Given the description of an element on the screen output the (x, y) to click on. 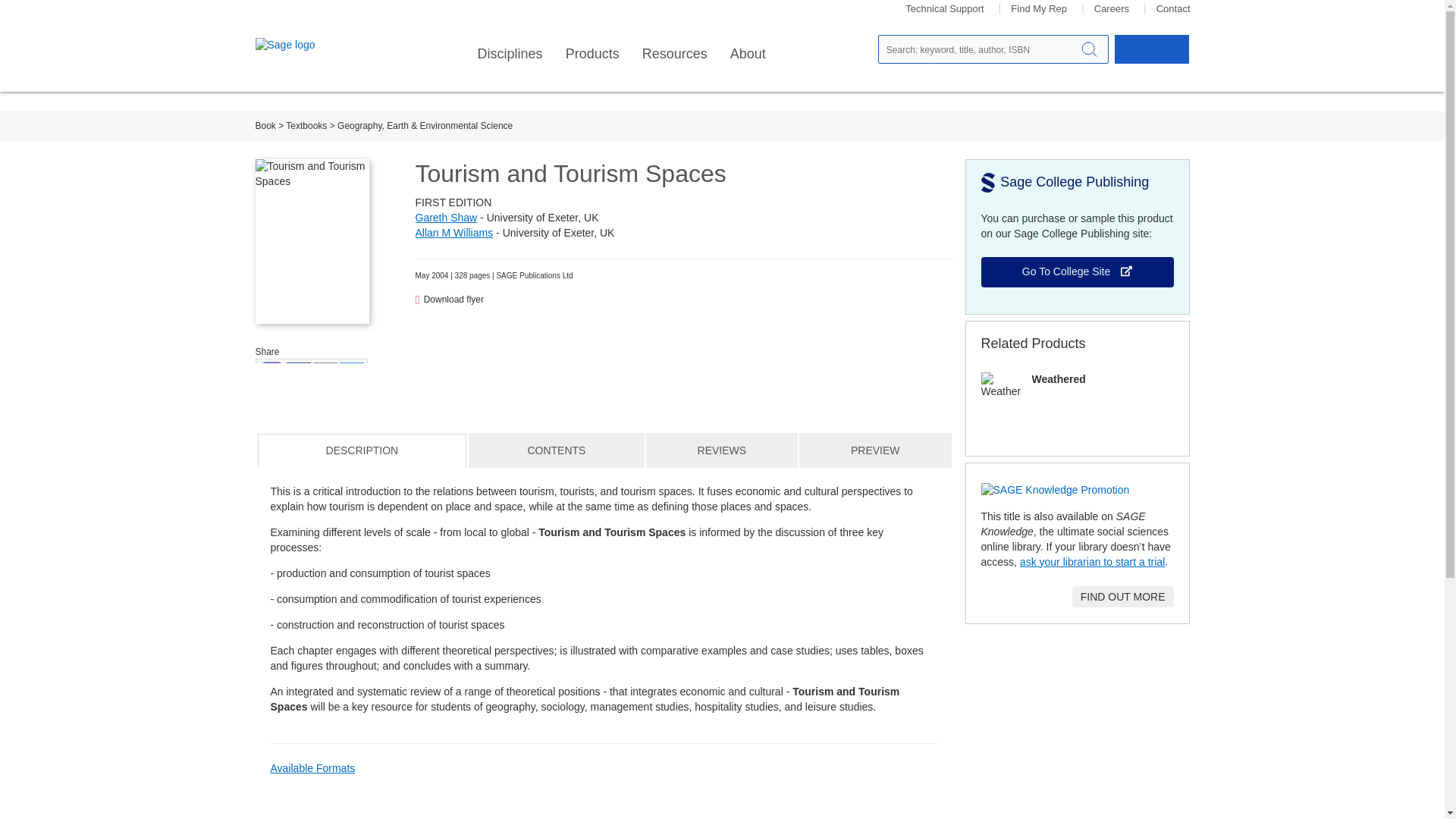
Find My Rep (1038, 8)
Careers (1111, 8)
Contact (1173, 8)
Sage logo: link back to homepage (309, 45)
Search (1089, 48)
Disciplines (509, 53)
Technical Support (944, 8)
